Given the description of an element on the screen output the (x, y) to click on. 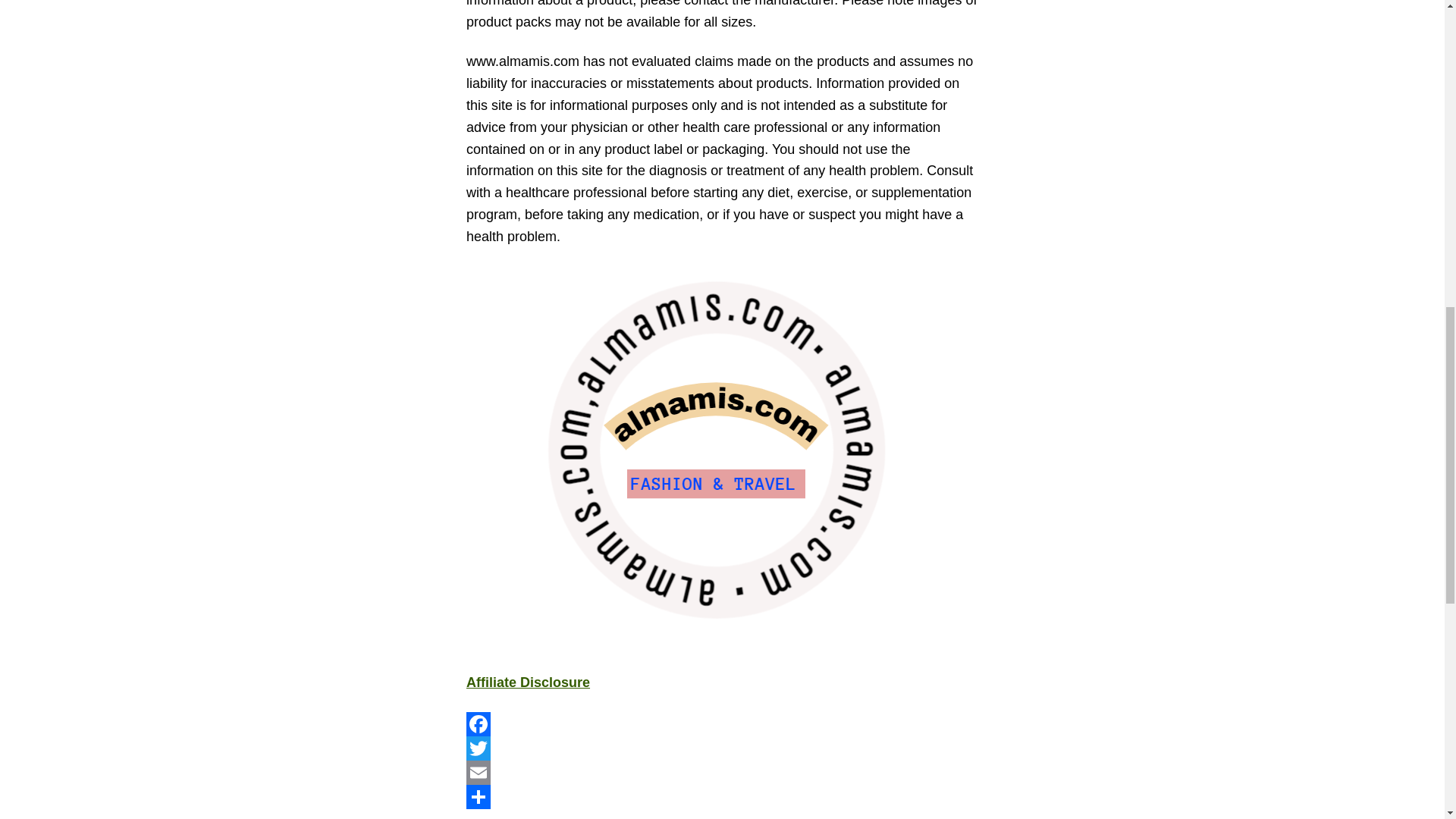
Facebook (721, 723)
Email (721, 772)
Facebook (721, 723)
Email (721, 772)
Affiliate Disclosure (527, 682)
Twitter (721, 748)
Twitter (721, 748)
